Given the description of an element on the screen output the (x, y) to click on. 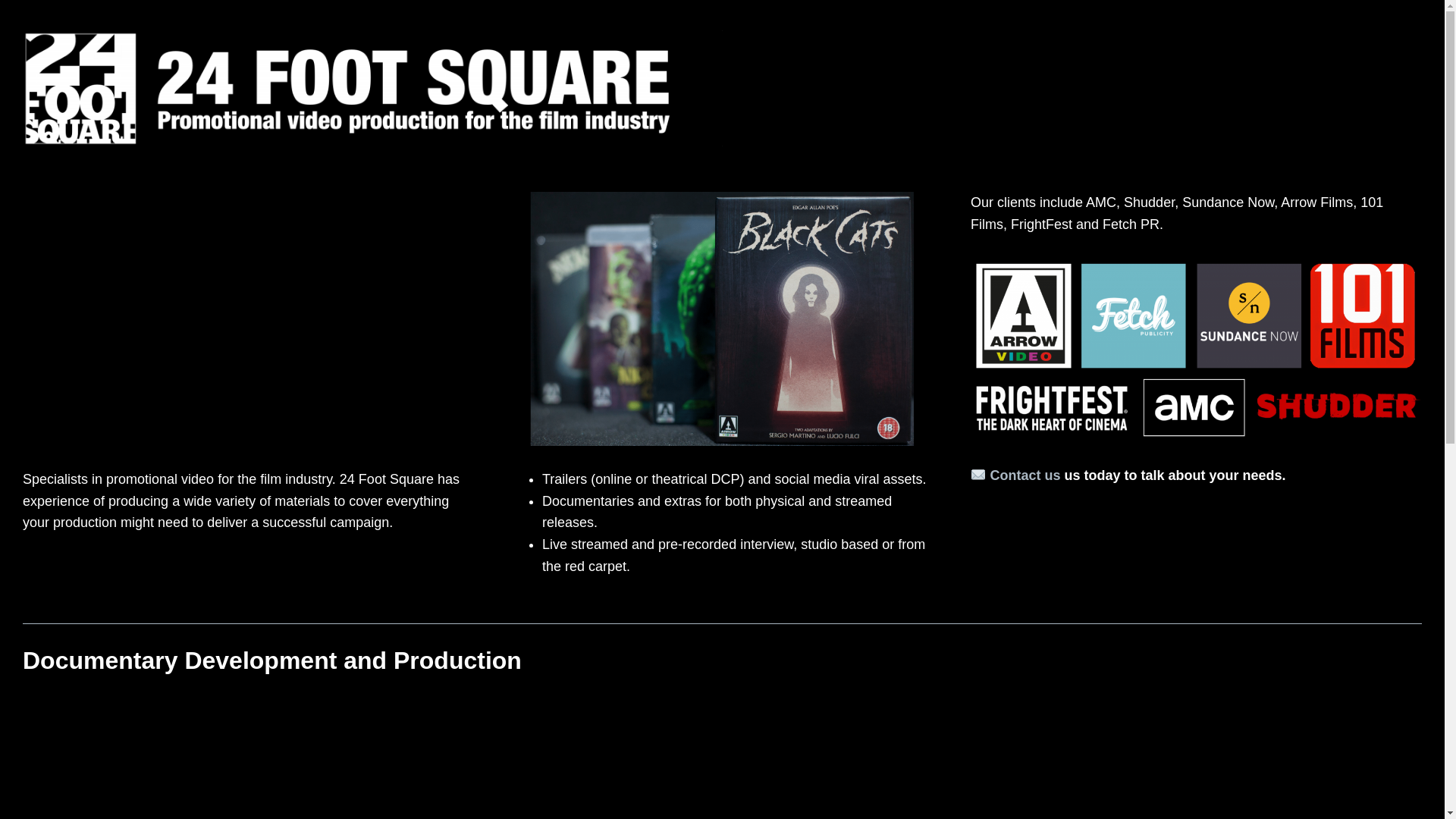
24 Foot Square - Showreel Element type: hover (247, 318)
Contact us Element type: text (1025, 475)
